Given the description of an element on the screen output the (x, y) to click on. 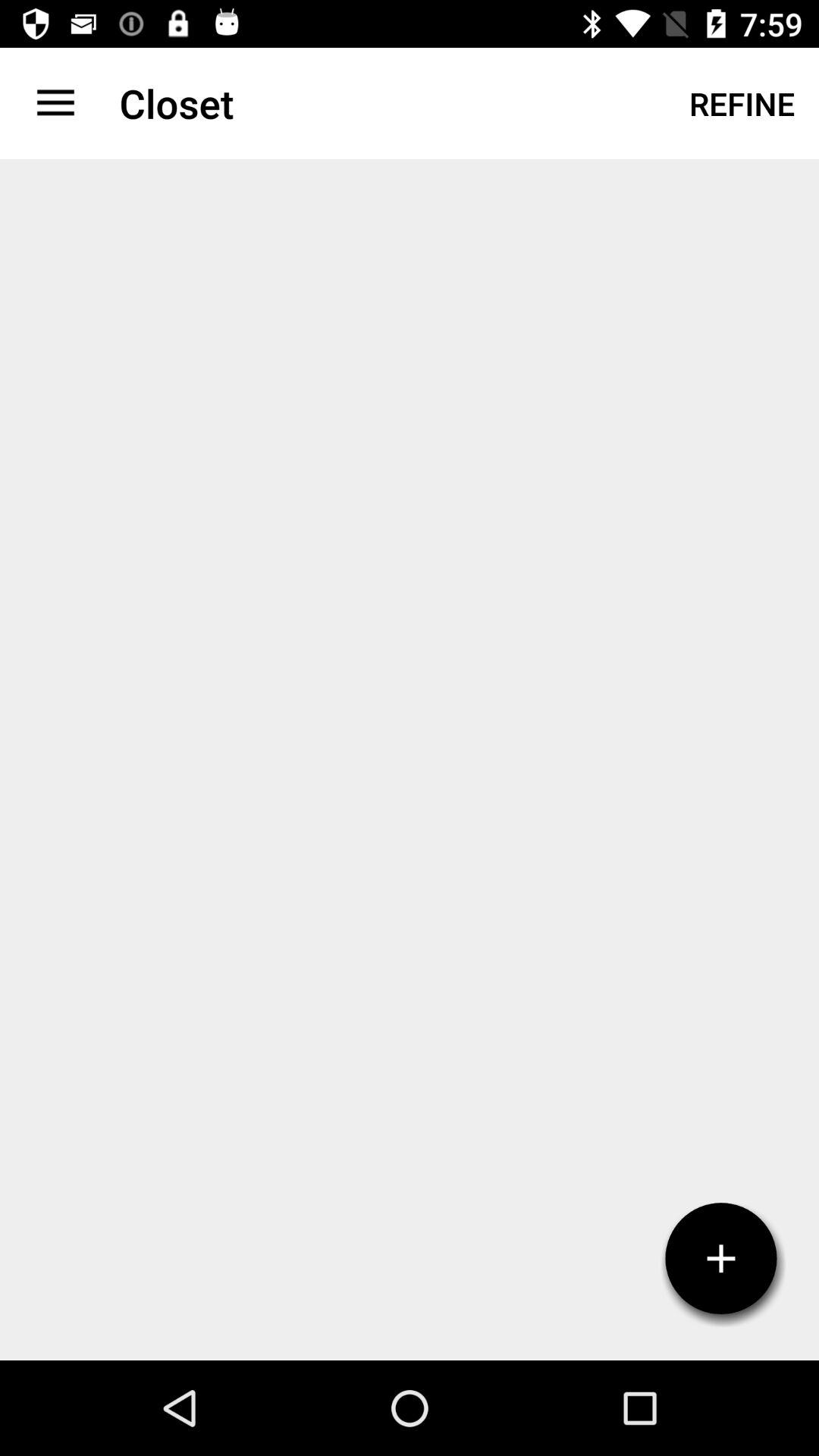
swipe to the refine item (742, 103)
